Given the description of an element on the screen output the (x, y) to click on. 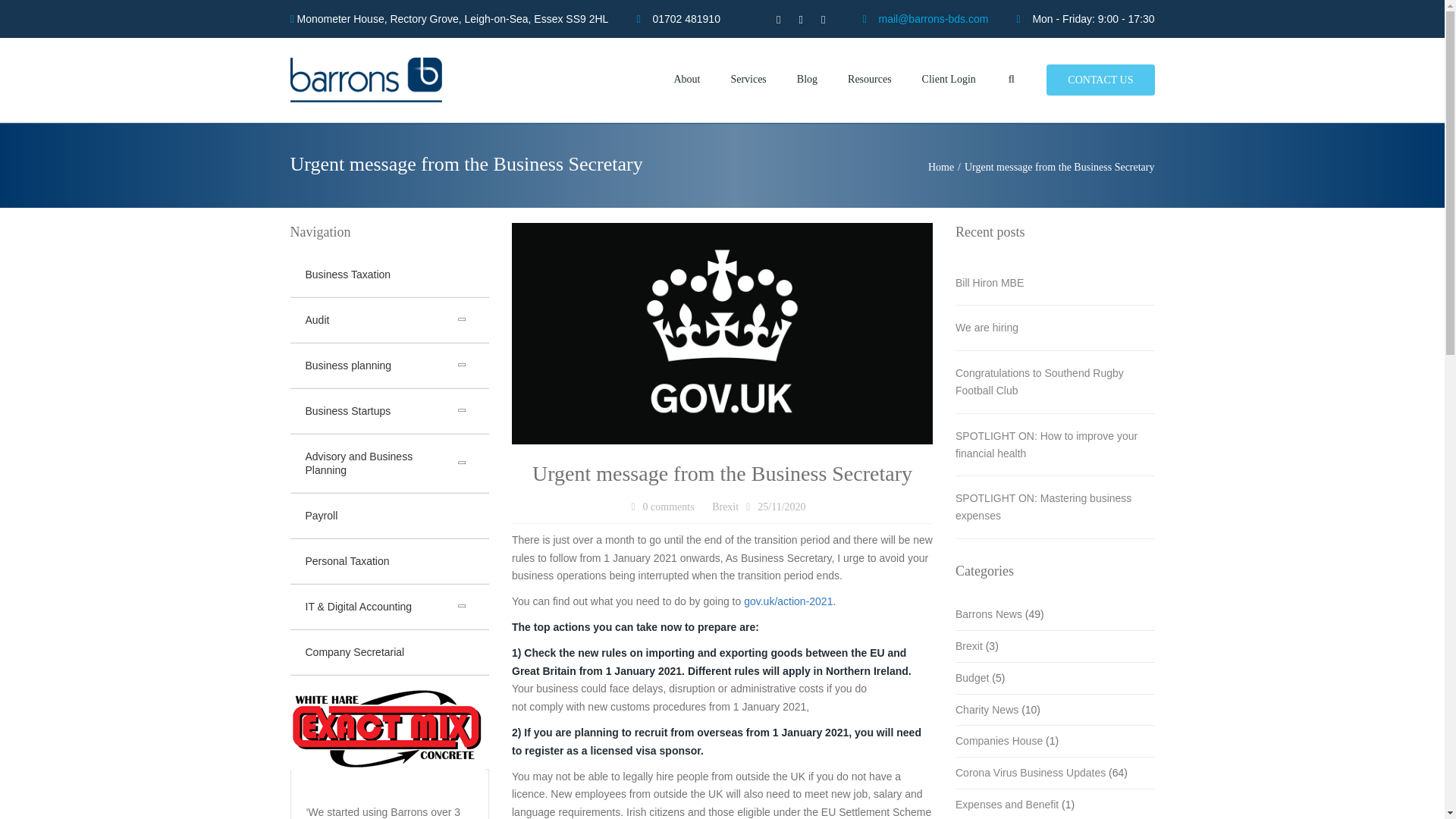
Resources (869, 79)
Audit (389, 320)
Business Taxation (389, 274)
Services (747, 79)
CONTACT US (1100, 79)
Home (945, 166)
Business planning (389, 365)
Blog (807, 79)
Client Login (949, 79)
About (686, 79)
